Given the description of an element on the screen output the (x, y) to click on. 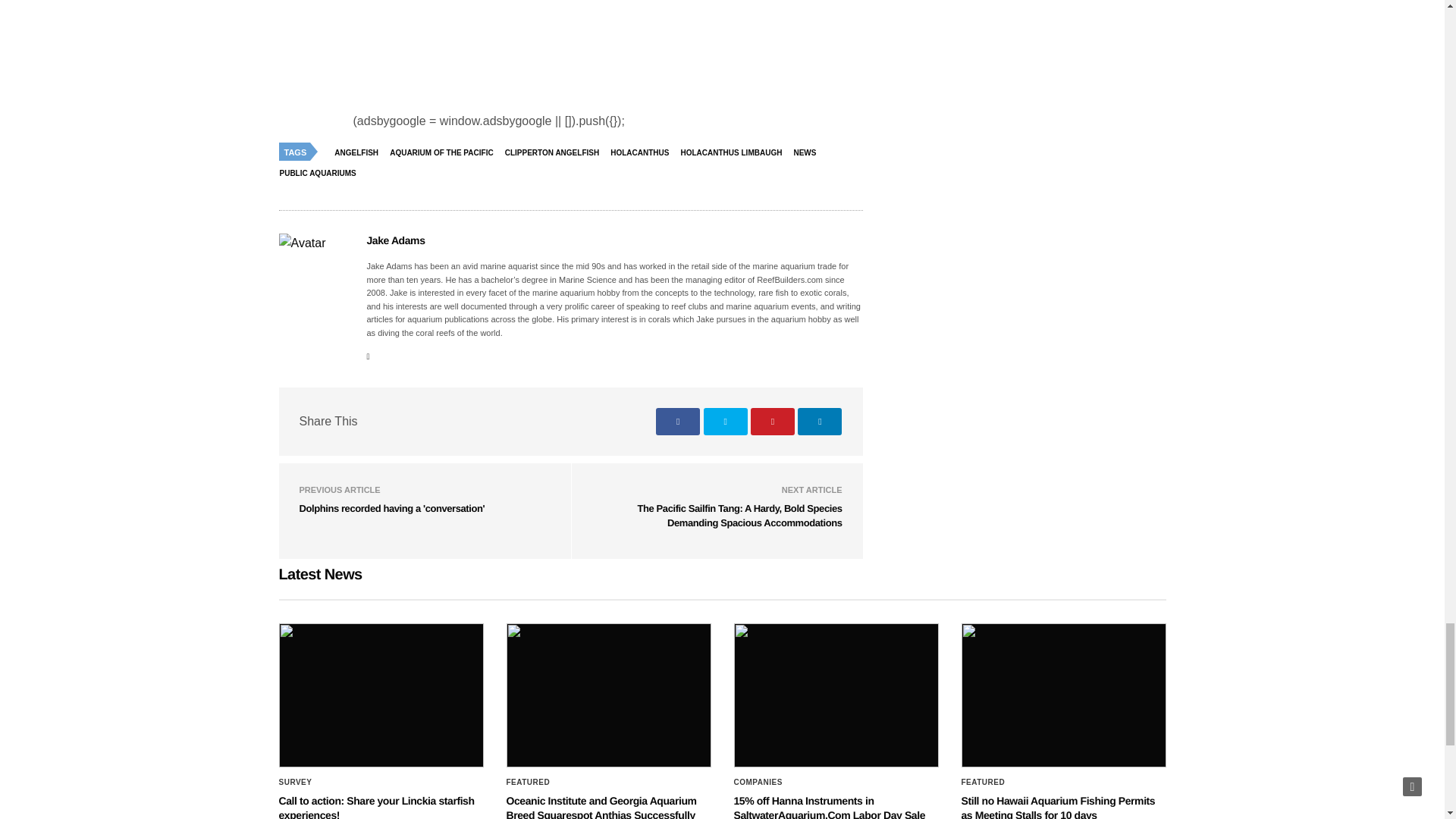
Call to action: Share your Linckia starfish experiences! (381, 695)
Dolphins recorded having a 'conversation' (391, 508)
survey (296, 782)
